Given the description of an element on the screen output the (x, y) to click on. 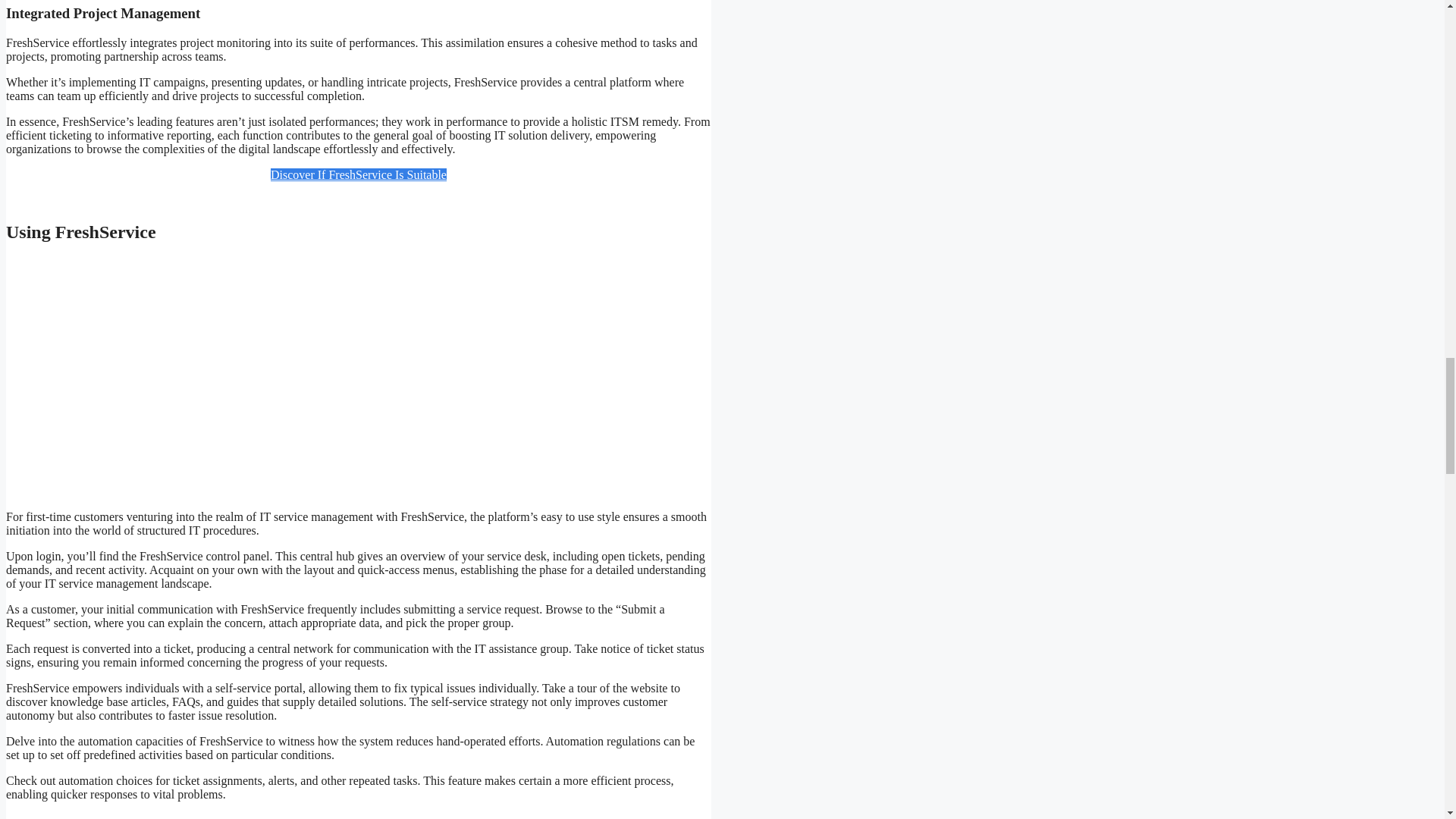
Discover If FreshService Is Suitable (358, 174)
